Given the description of an element on the screen output the (x, y) to click on. 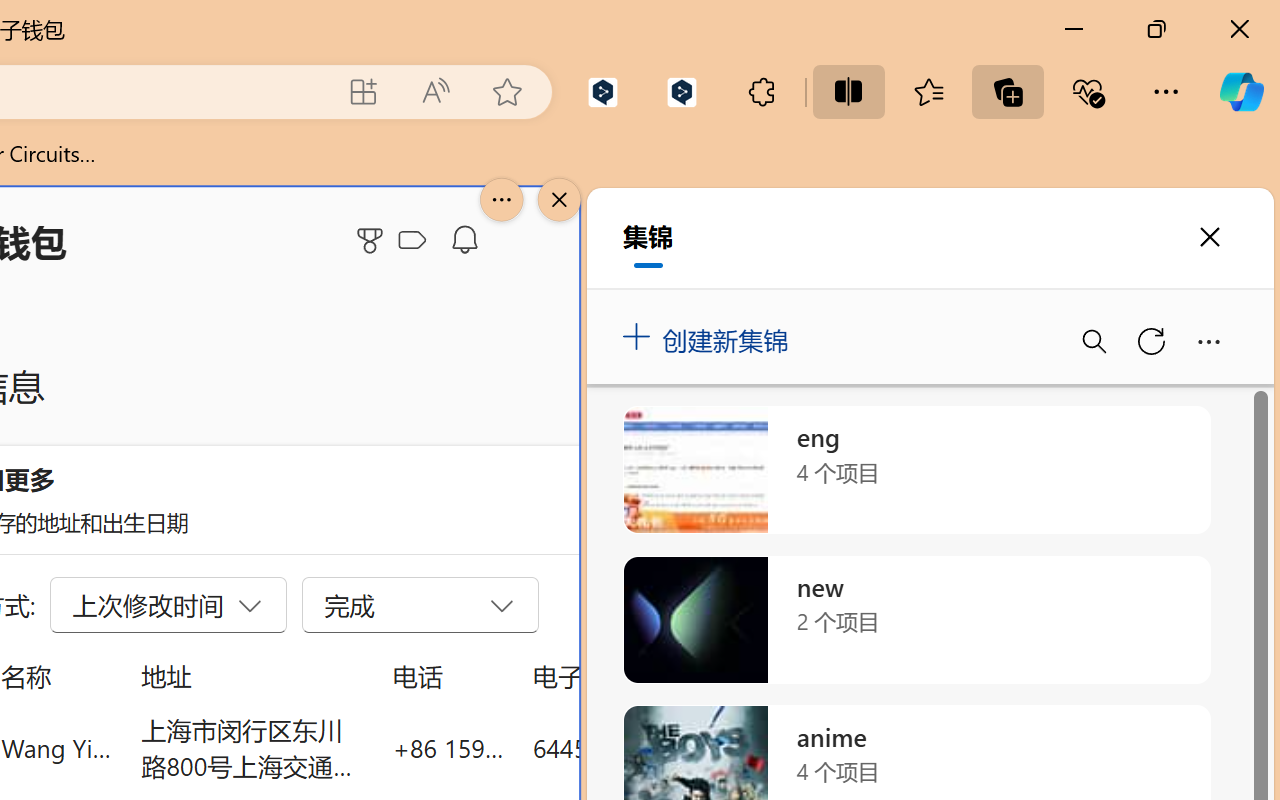
Copilot (Ctrl+Shift+.) (1241, 91)
Microsoft Rewards (373, 240)
